Given the description of an element on the screen output the (x, y) to click on. 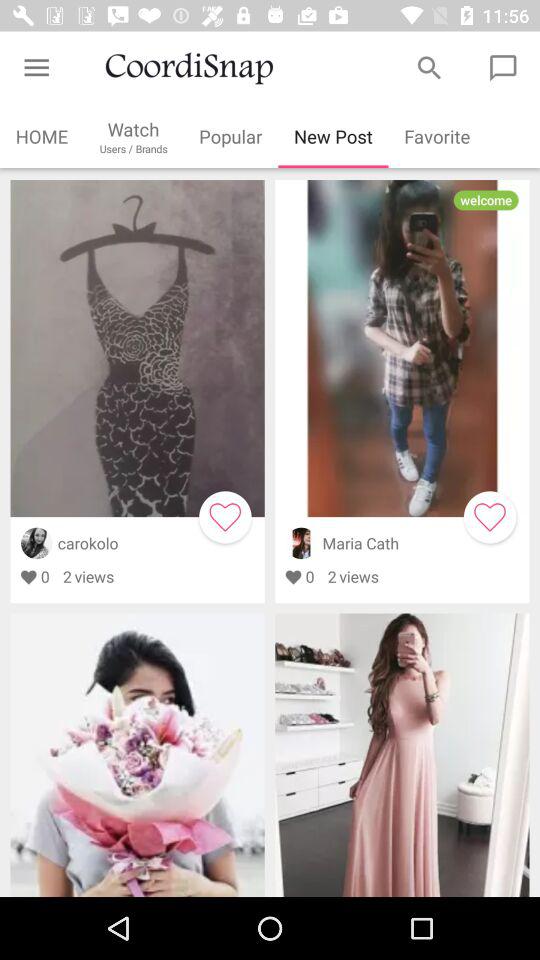
orange box flashing on heart sign (225, 517)
